Given the description of an element on the screen output the (x, y) to click on. 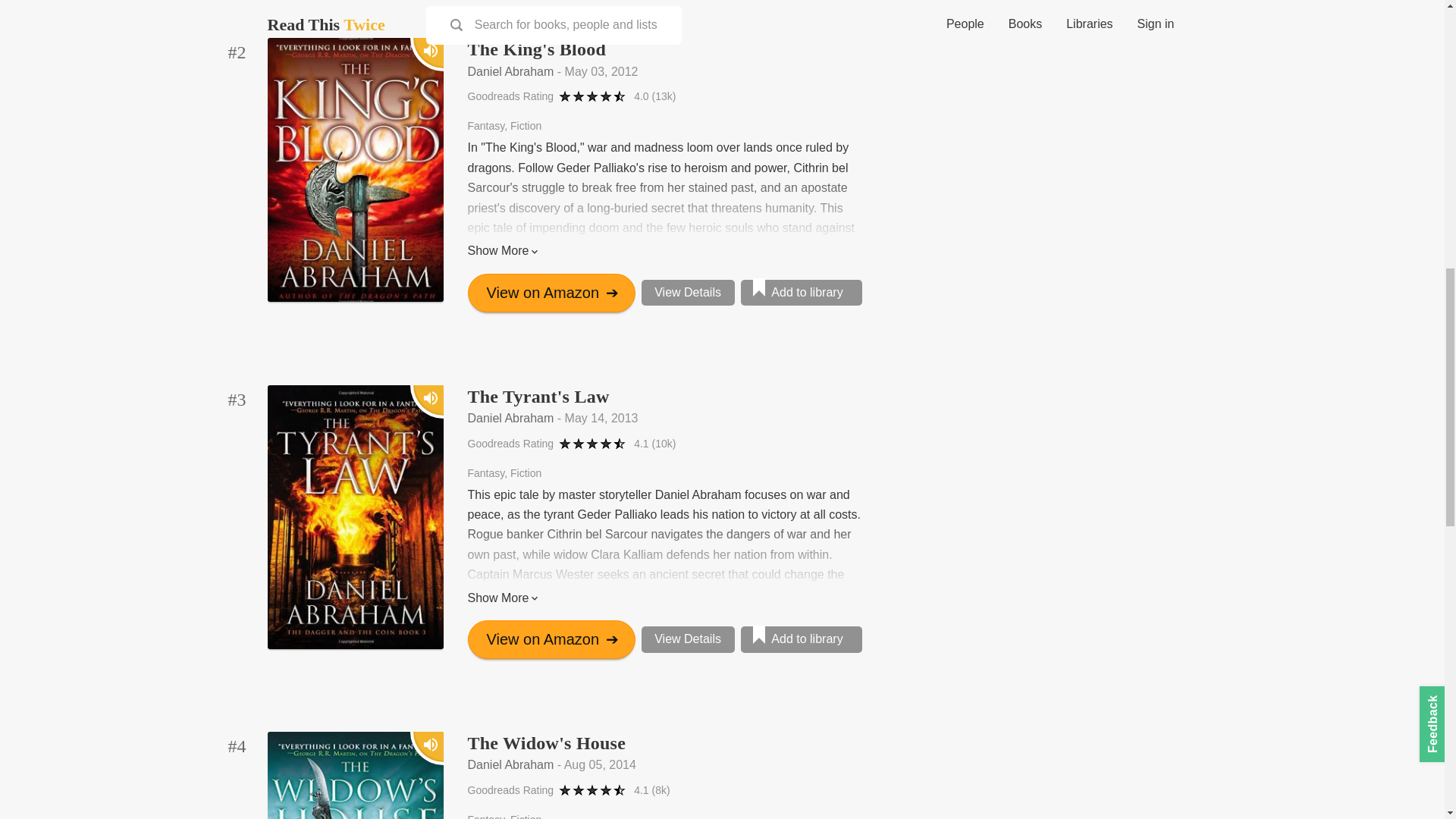
Add to library (800, 292)
Book 3 (236, 399)
View Details (688, 292)
Fiction (526, 472)
Goodreads reviews (654, 96)
Fantasy (489, 472)
Book 4 (236, 747)
Show More (664, 598)
Show More (664, 250)
Book 2 (236, 52)
